Given the description of an element on the screen output the (x, y) to click on. 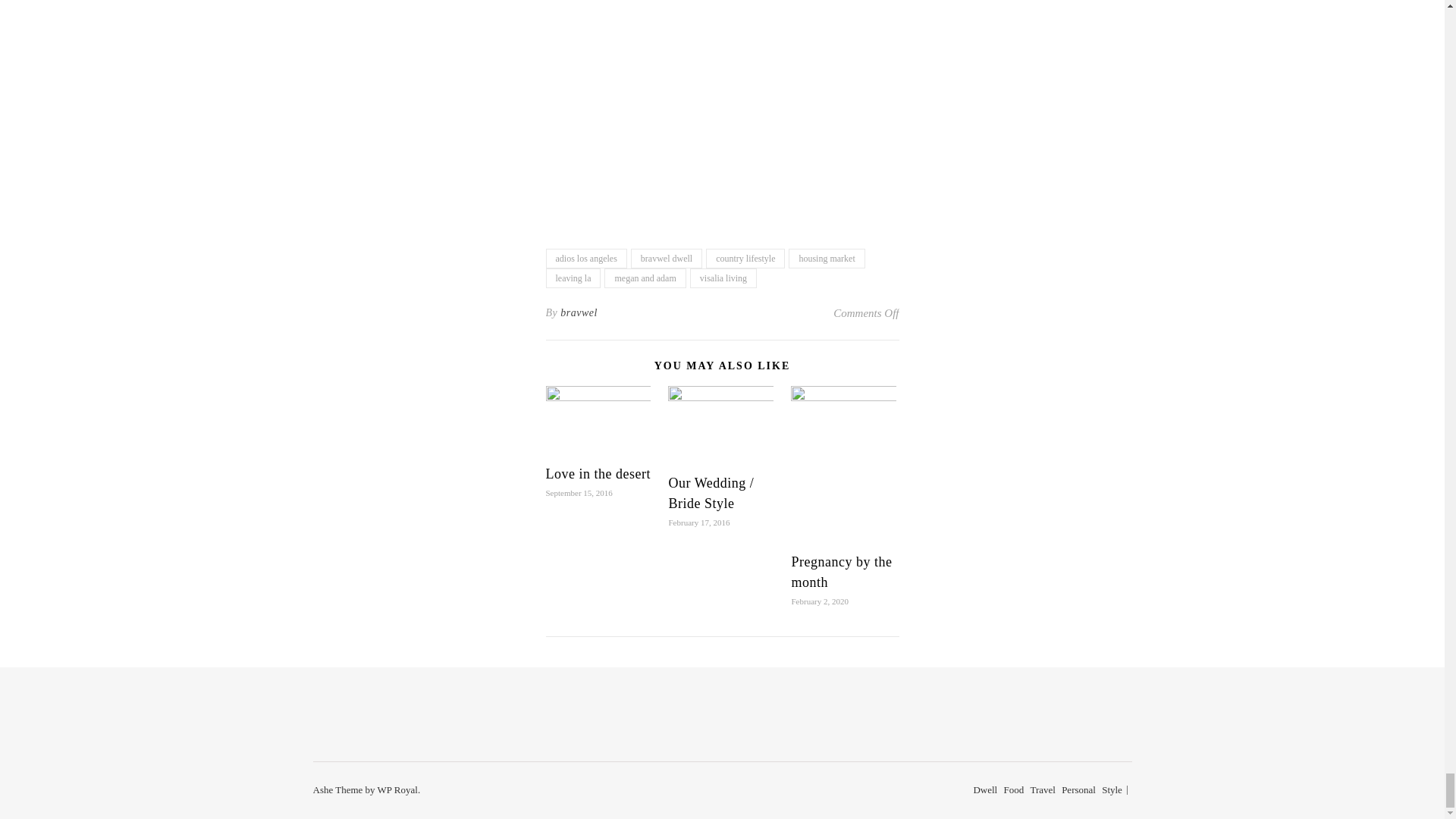
Posts by bravwel (578, 313)
